Given the description of an element on the screen output the (x, y) to click on. 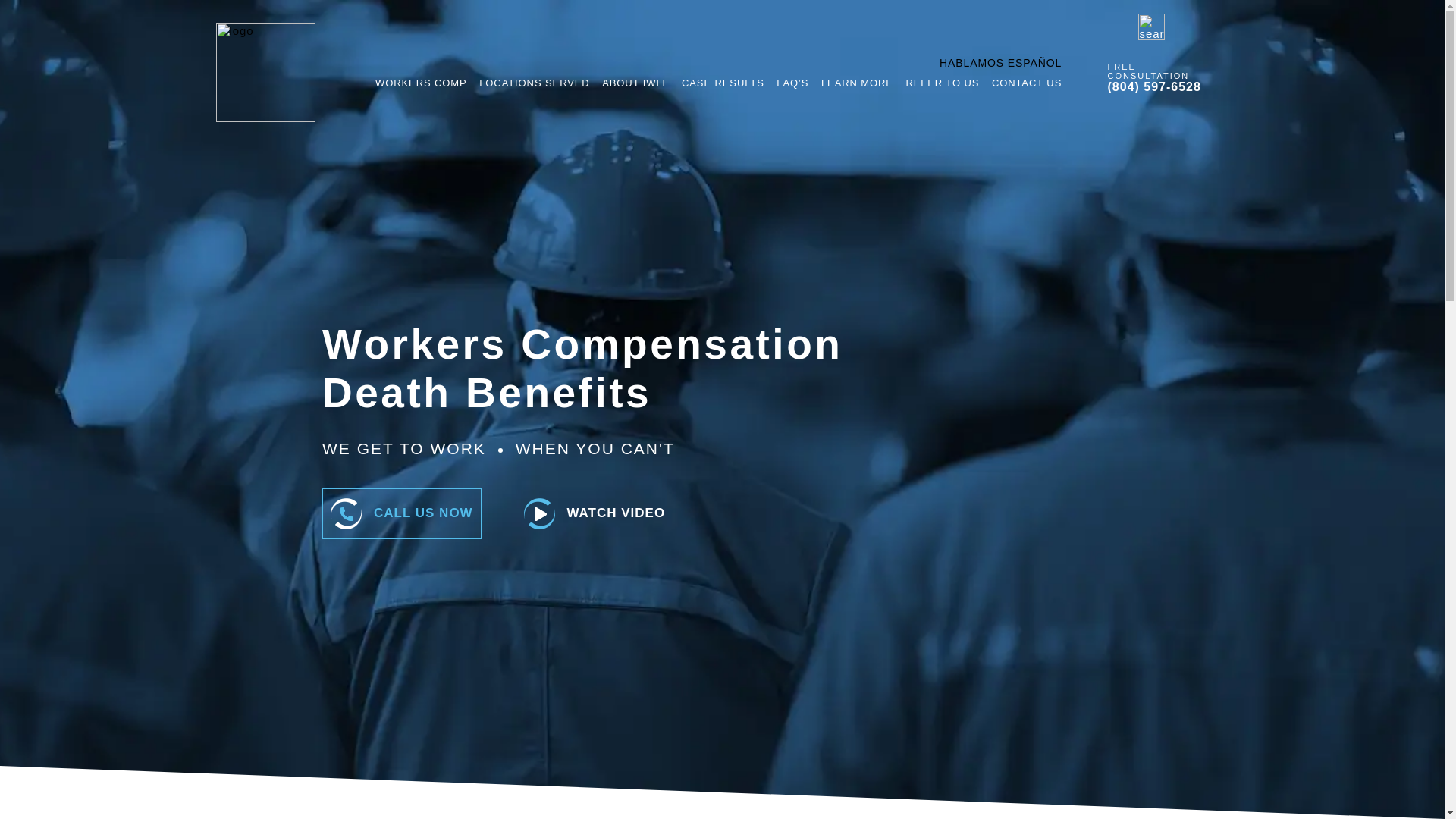
WORKERS COMP (420, 82)
LEARN MORE (856, 82)
CASE RESULTS (723, 82)
ABOUT IWLF (635, 82)
LOCATIONS SERVED (534, 82)
